Given the description of an element on the screen output the (x, y) to click on. 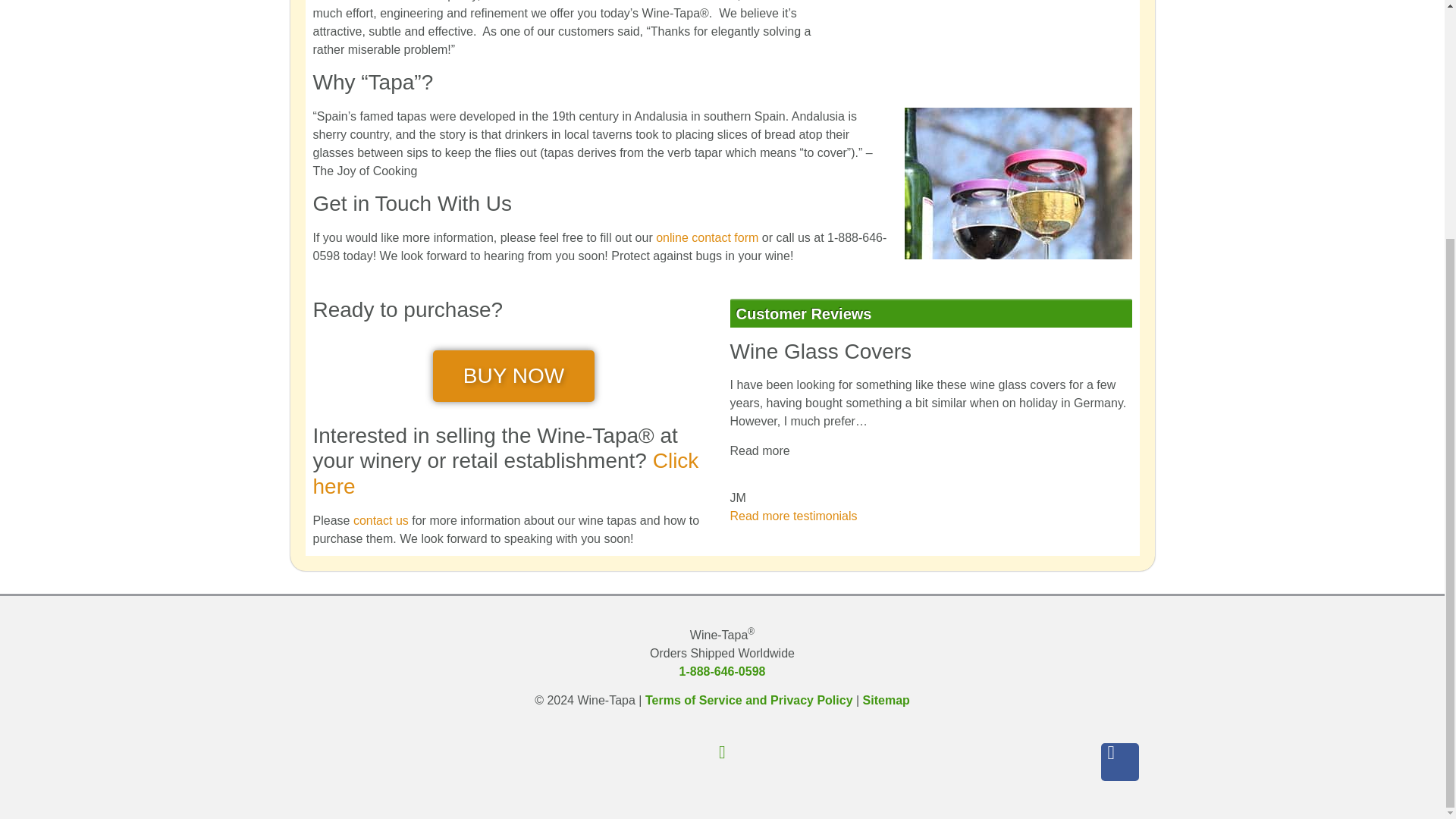
BUY NOW (513, 376)
Terms of Service and Privacy Policy (749, 699)
Sitemap (886, 699)
HTML Sitemap (886, 699)
Wine-Tapas (707, 237)
online contact form (707, 237)
Call Wine-Tapa Today (722, 671)
Contact Wine Tapa (381, 520)
1-888-646-0598 (722, 671)
contact us (381, 520)
